Given the description of an element on the screen output the (x, y) to click on. 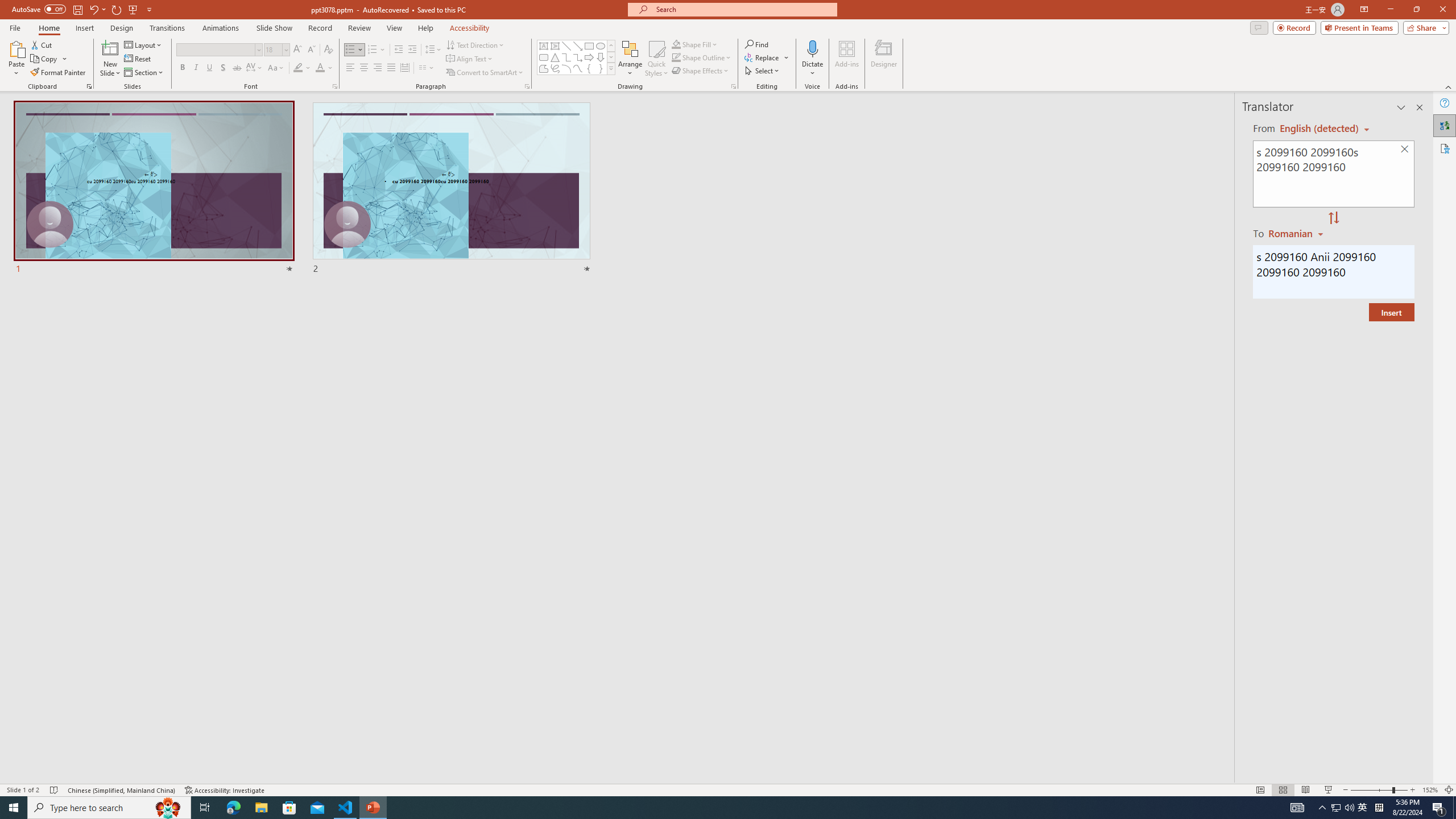
Swap "from" and "to" languages. (1333, 218)
